Given the description of an element on the screen output the (x, y) to click on. 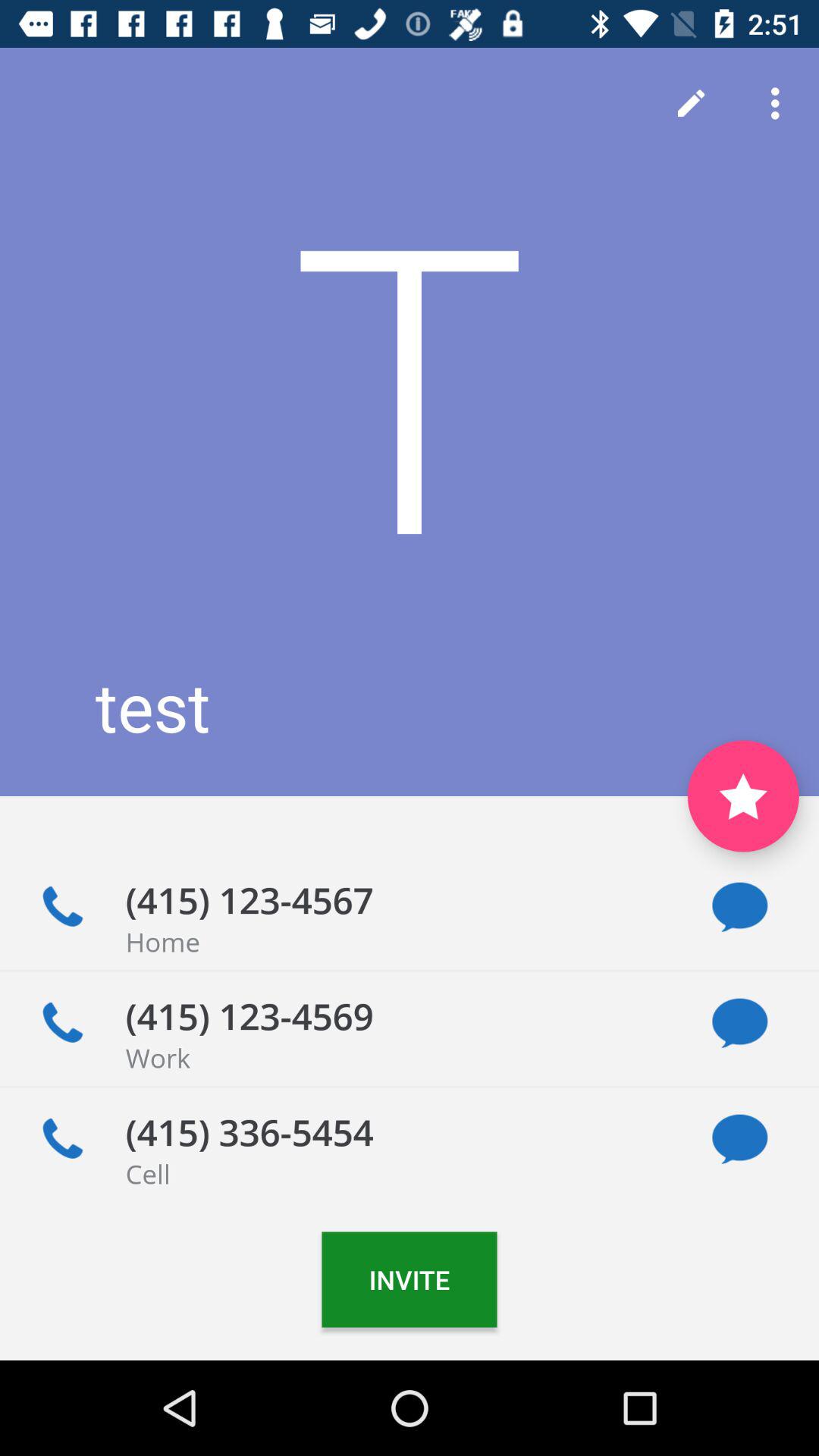
add or remove favorite (743, 795)
